Given the description of an element on the screen output the (x, y) to click on. 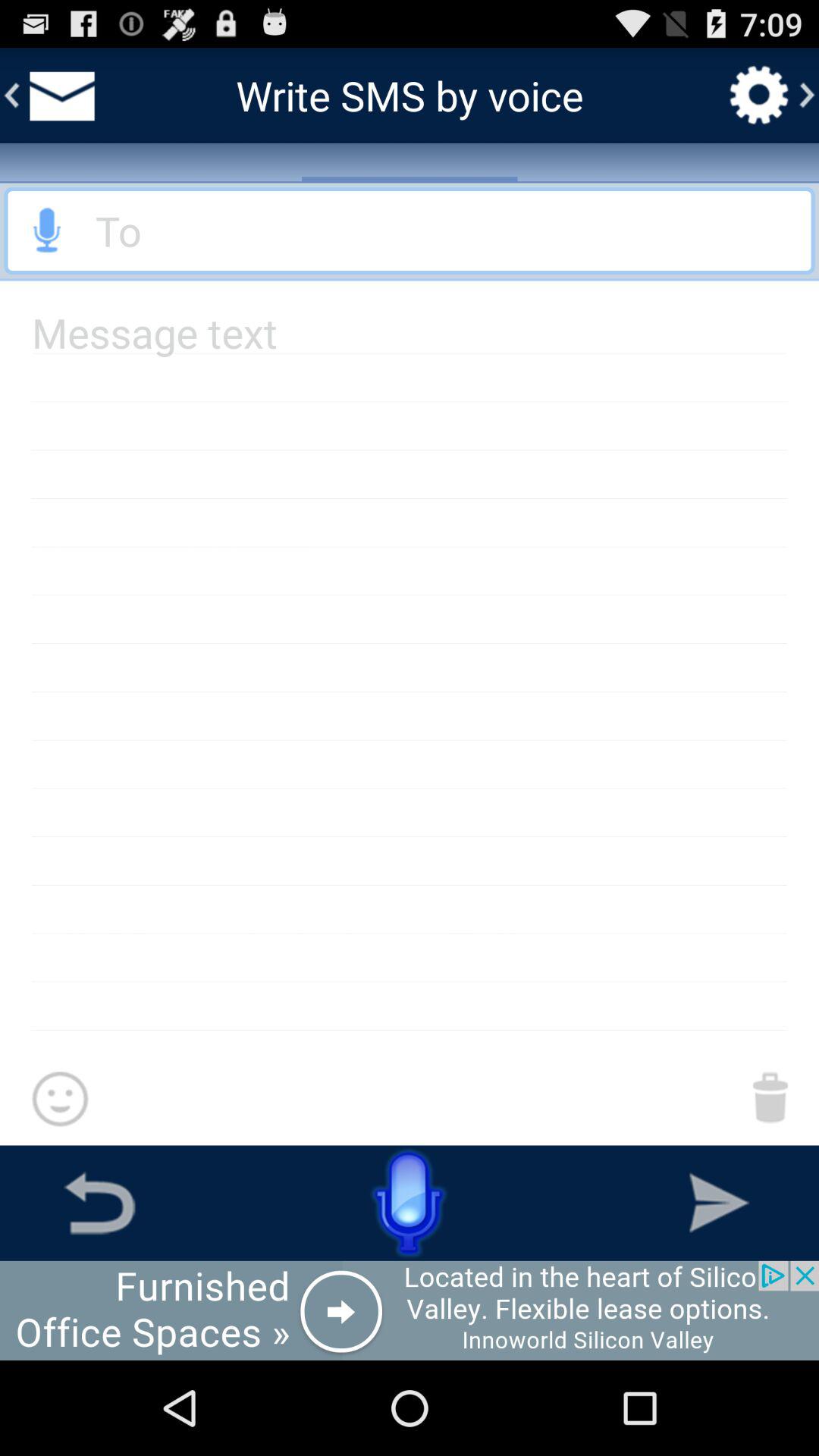
click the advertisement for furnished office space (409, 1310)
